Given the description of an element on the screen output the (x, y) to click on. 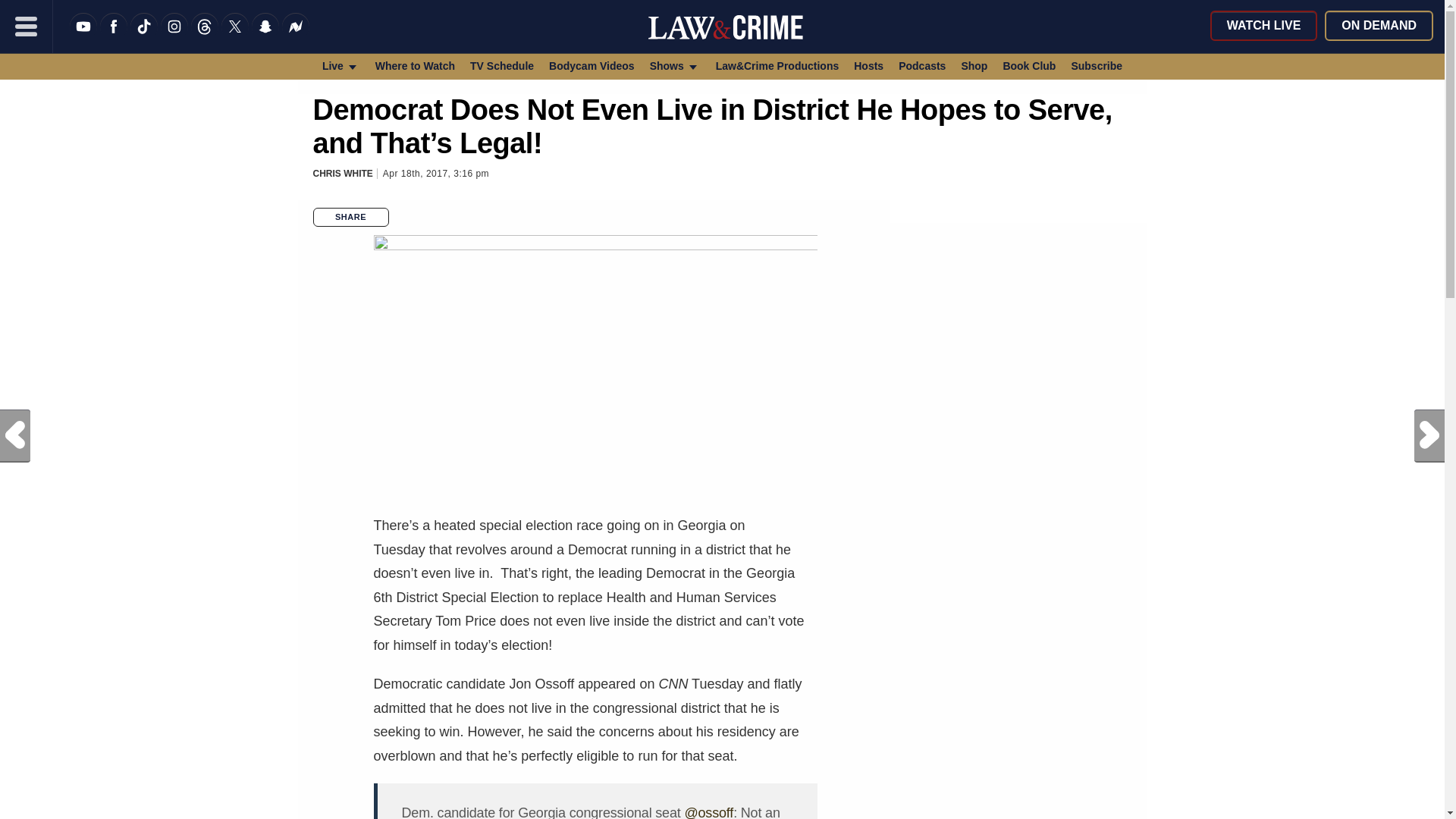
Snapchat (265, 35)
Posts by Chris White (342, 173)
YouTube (83, 35)
Threads (204, 35)
News Break (295, 35)
Like us on Facebook (114, 35)
Instagram (173, 35)
TikTok (144, 35)
